Given the description of an element on the screen output the (x, y) to click on. 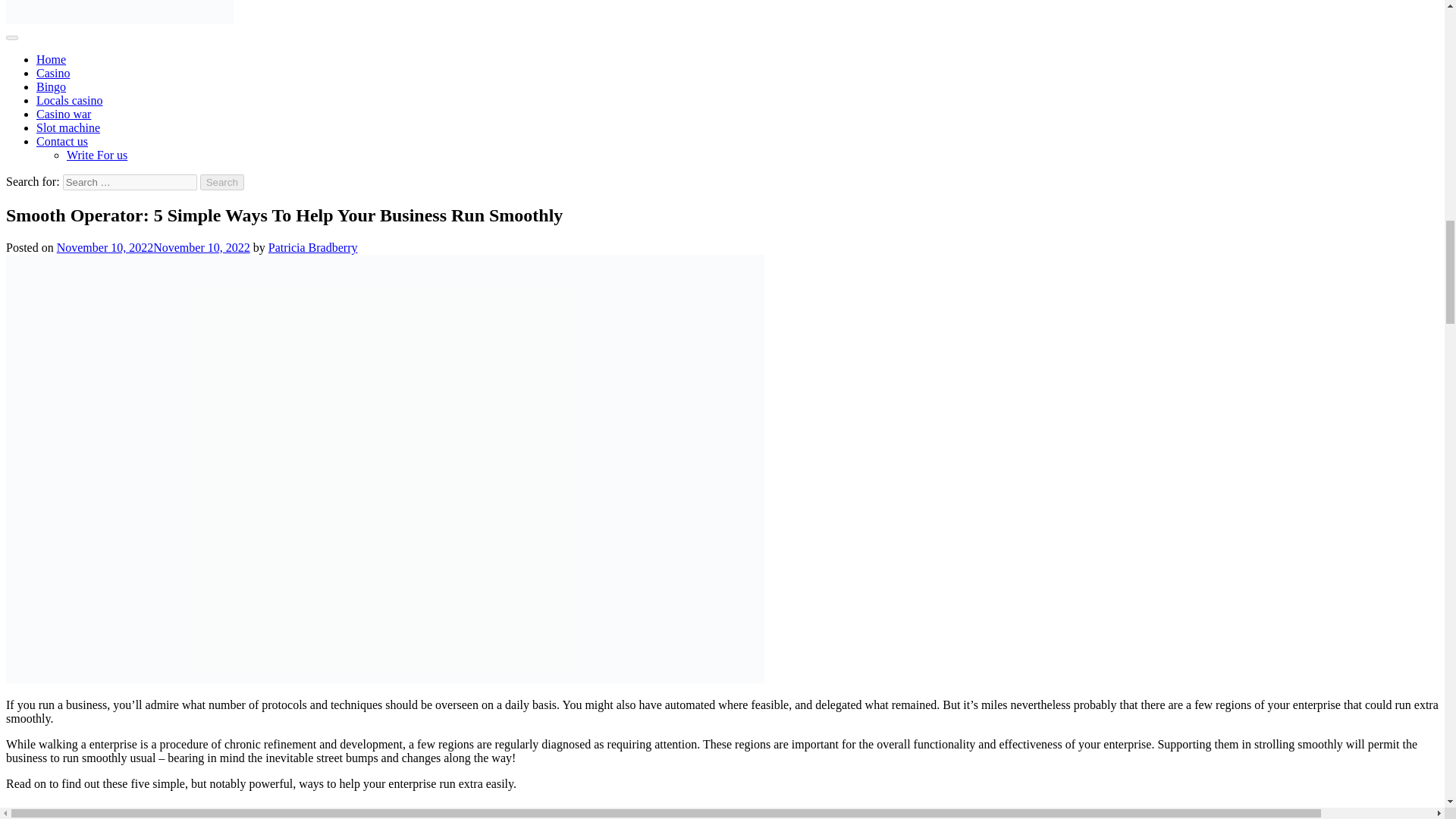
Home (50, 59)
Search (222, 182)
Slot machine (68, 127)
Casino war (63, 113)
Bingo (50, 86)
Search (222, 182)
Search (222, 182)
Patricia Bradberry (312, 246)
November 10, 2022November 10, 2022 (153, 246)
Write For us (97, 154)
